Given the description of an element on the screen output the (x, y) to click on. 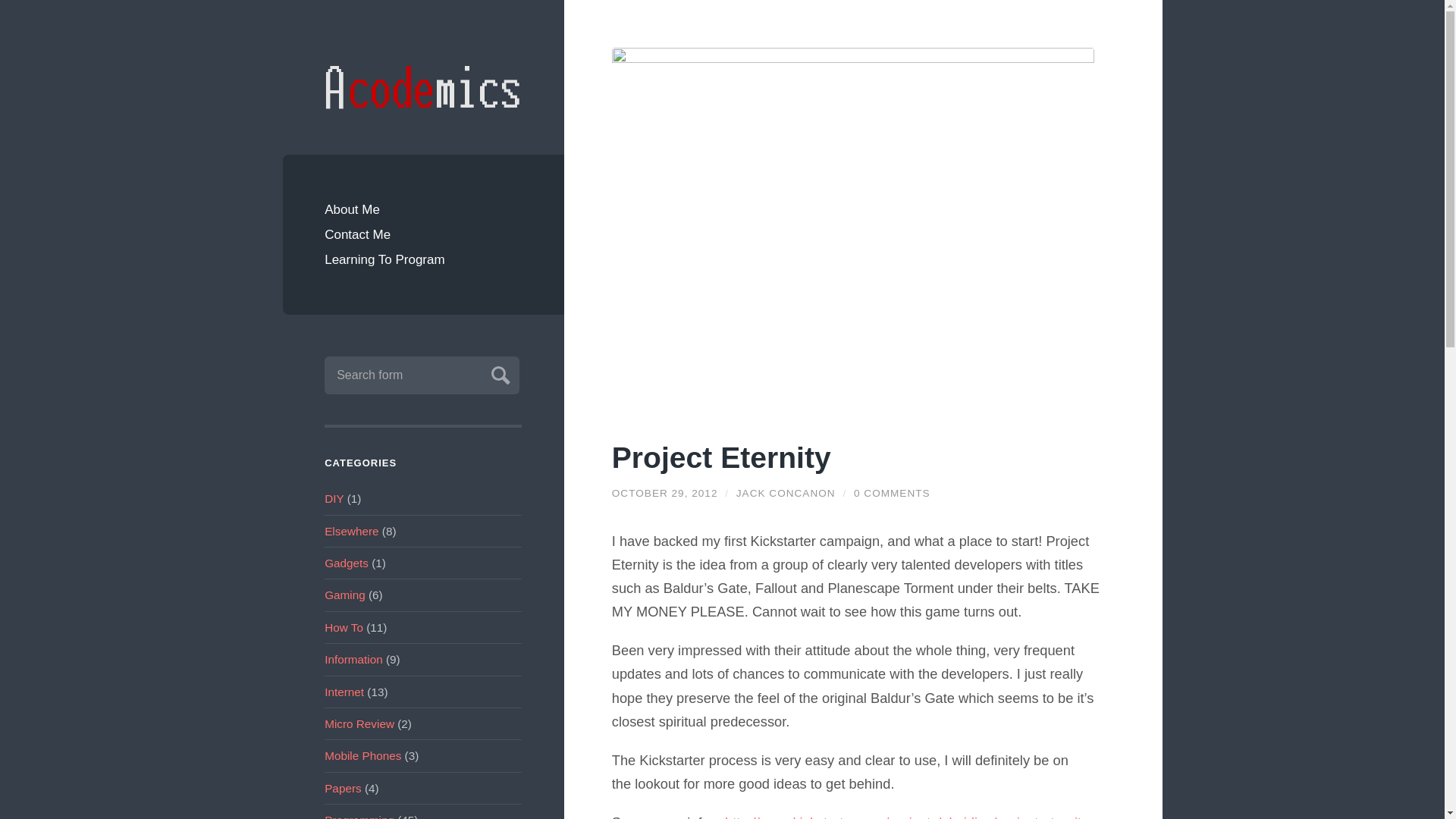
Gaming (344, 594)
Internet (344, 691)
Contact Me (422, 234)
Gadgets (346, 562)
Mobile Phones (362, 755)
0 COMMENTS (891, 492)
How To (343, 626)
Elsewhere (351, 530)
Project Eternity (664, 492)
